Given the description of an element on the screen output the (x, y) to click on. 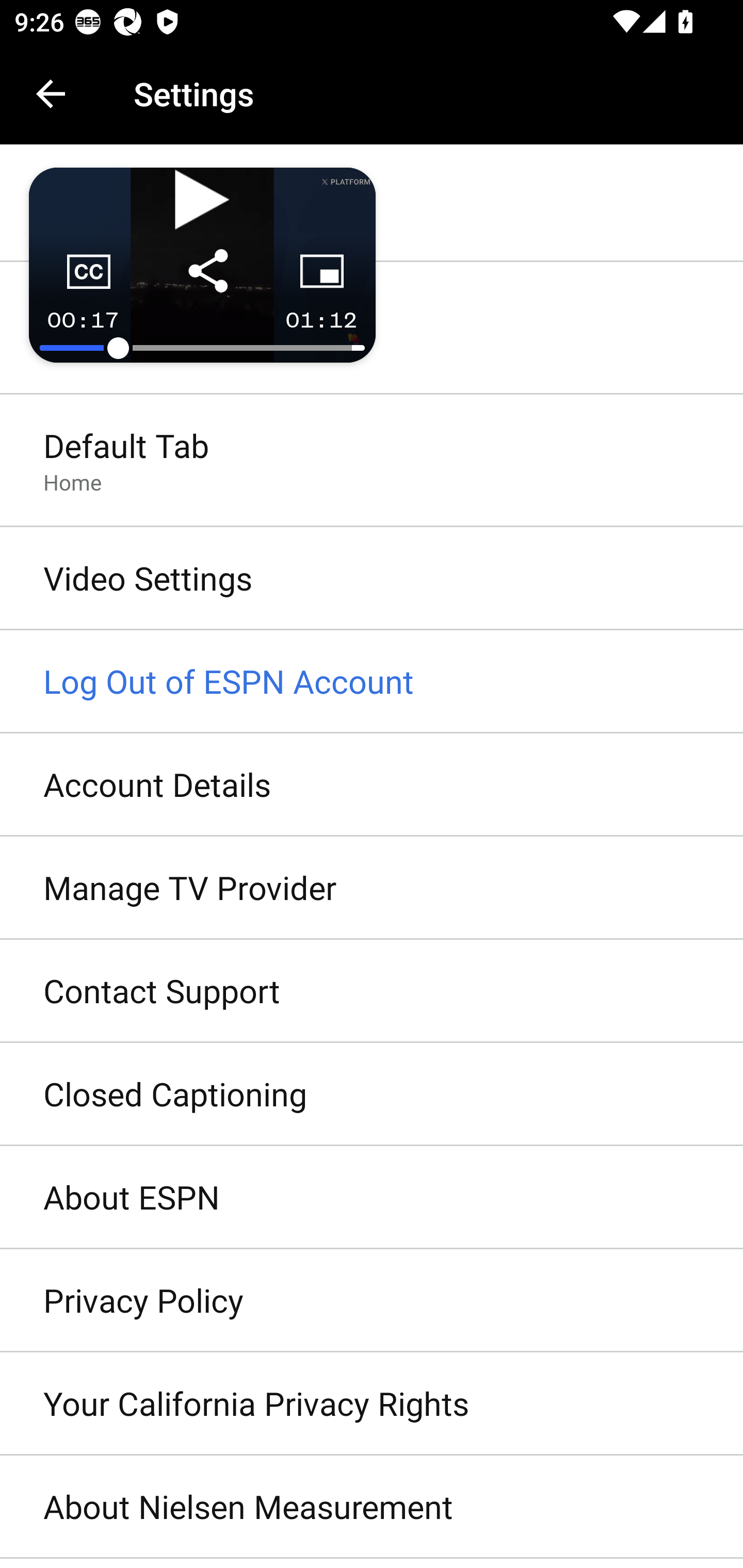
Navigate up (50, 93)
Default Tab Home (371, 461)
Video Settings (371, 578)
Log Out of ESPN Account (371, 681)
Account Details (371, 785)
Manage TV Provider (371, 888)
Contact Support (371, 990)
Closed Captioning (371, 1094)
About ESPN (371, 1197)
Privacy Policy (371, 1301)
Your California Privacy Rights (371, 1403)
About Nielsen Measurement (371, 1506)
